Given the description of an element on the screen output the (x, y) to click on. 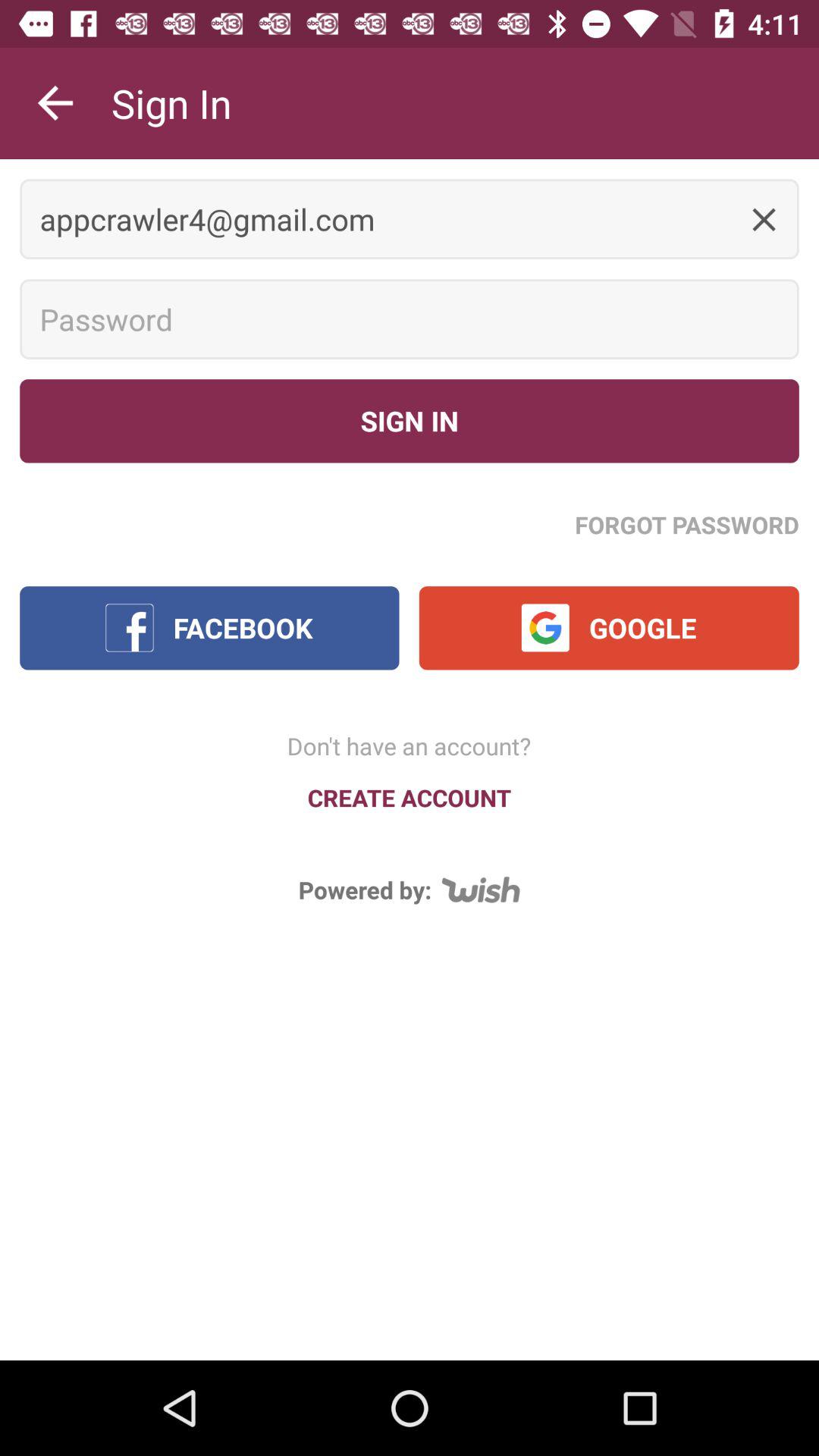
click appcrawler4@gmail.com item (409, 219)
